Given the description of an element on the screen output the (x, y) to click on. 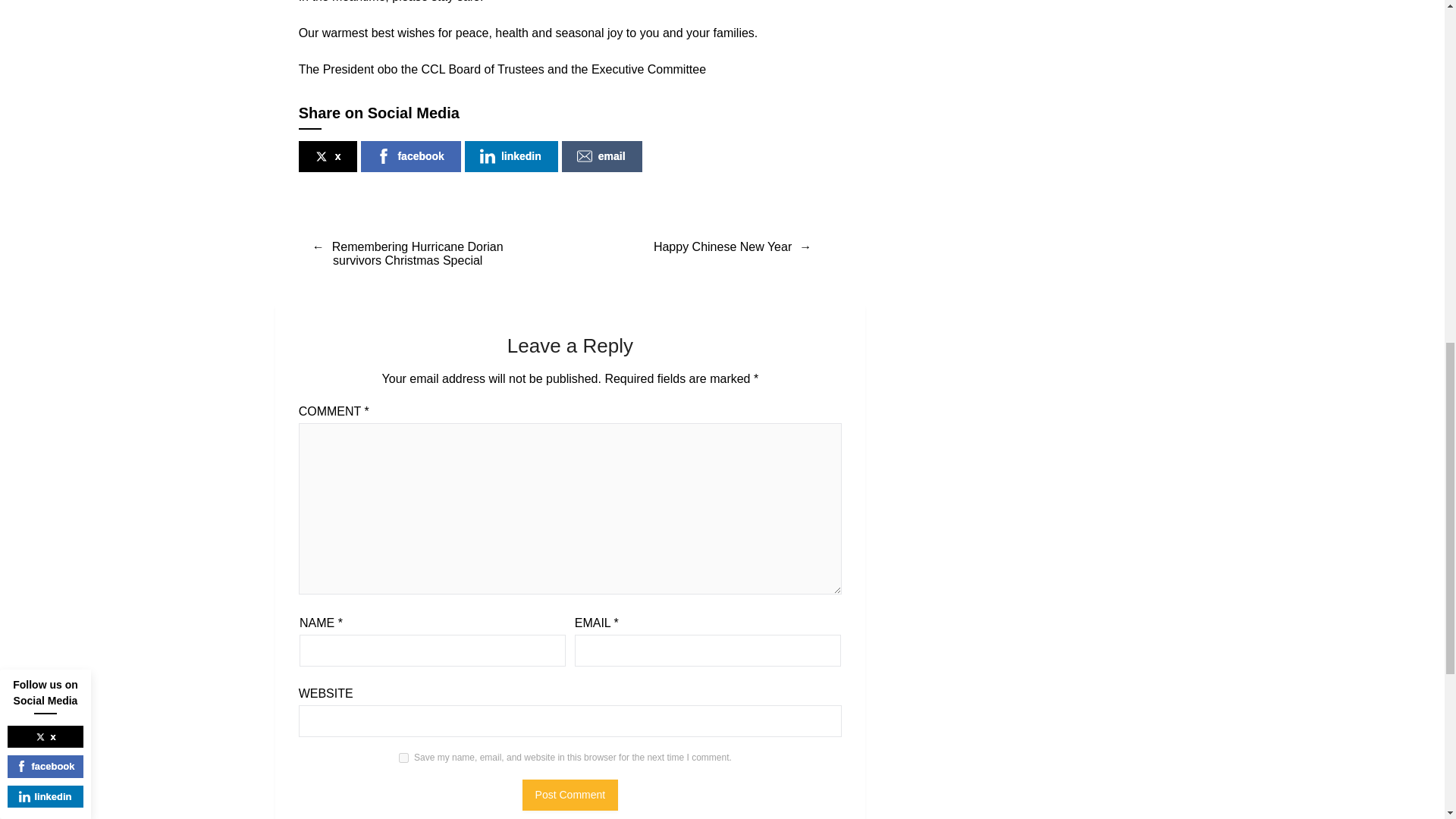
Happy Chinese New Year (731, 247)
facebook (410, 155)
linkedin (510, 155)
yes (403, 757)
Post Comment (570, 794)
email (602, 155)
Post Comment (570, 794)
x (328, 155)
Remembering Hurricane Dorian survivors Christmas Special (407, 253)
